Given the description of an element on the screen output the (x, y) to click on. 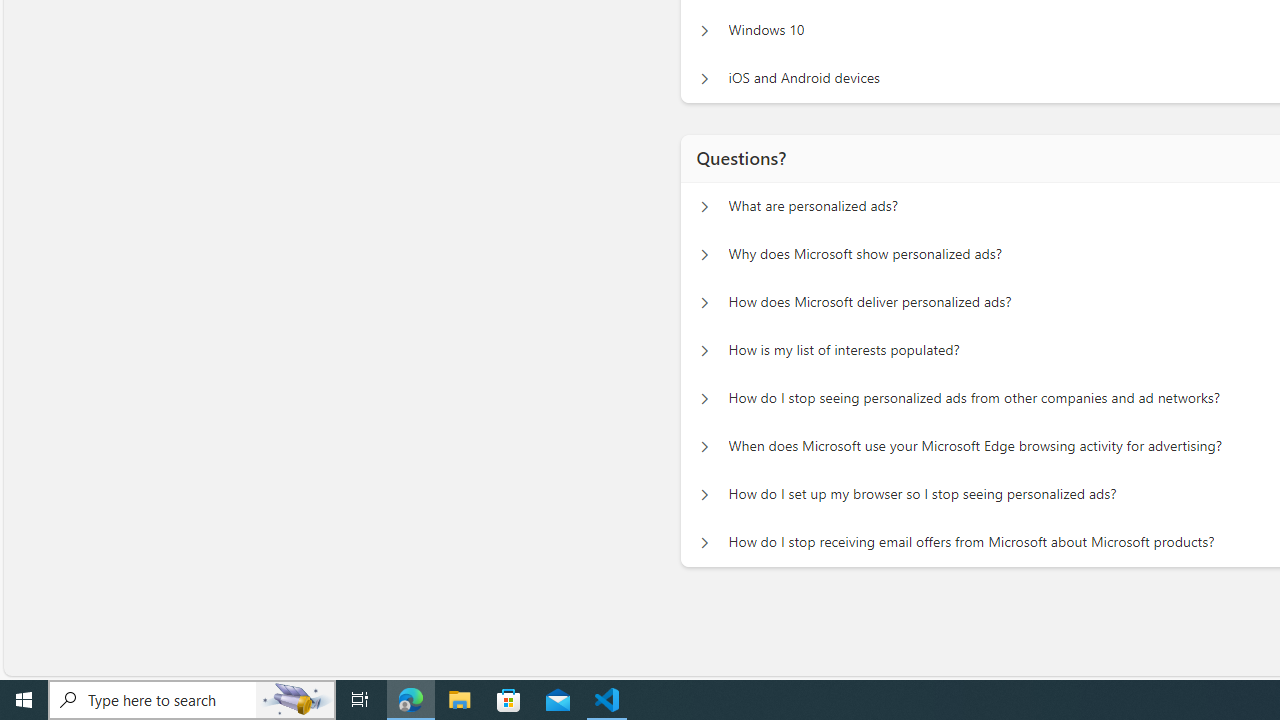
Questions? How is my list of interests populated? (704, 350)
Questions? Why does Microsoft show personalized ads? (704, 255)
Manage personalized ads on your device Windows 10 (704, 30)
Questions? What are personalized ads? (704, 206)
Questions? How does Microsoft deliver personalized ads? (704, 302)
